Given the description of an element on the screen output the (x, y) to click on. 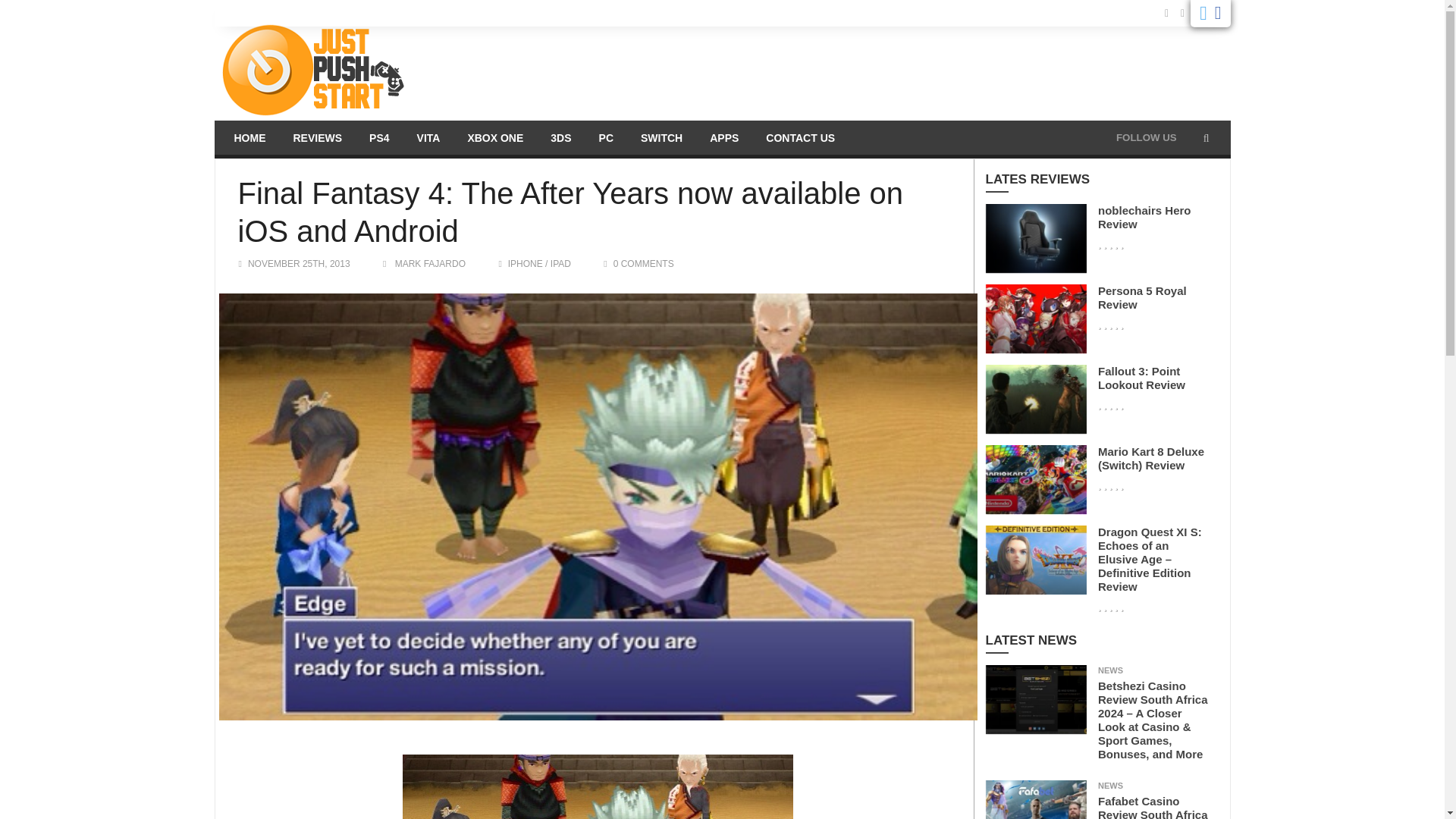
gorgeous (1110, 244)
gorgeous (1110, 325)
